Given the description of an element on the screen output the (x, y) to click on. 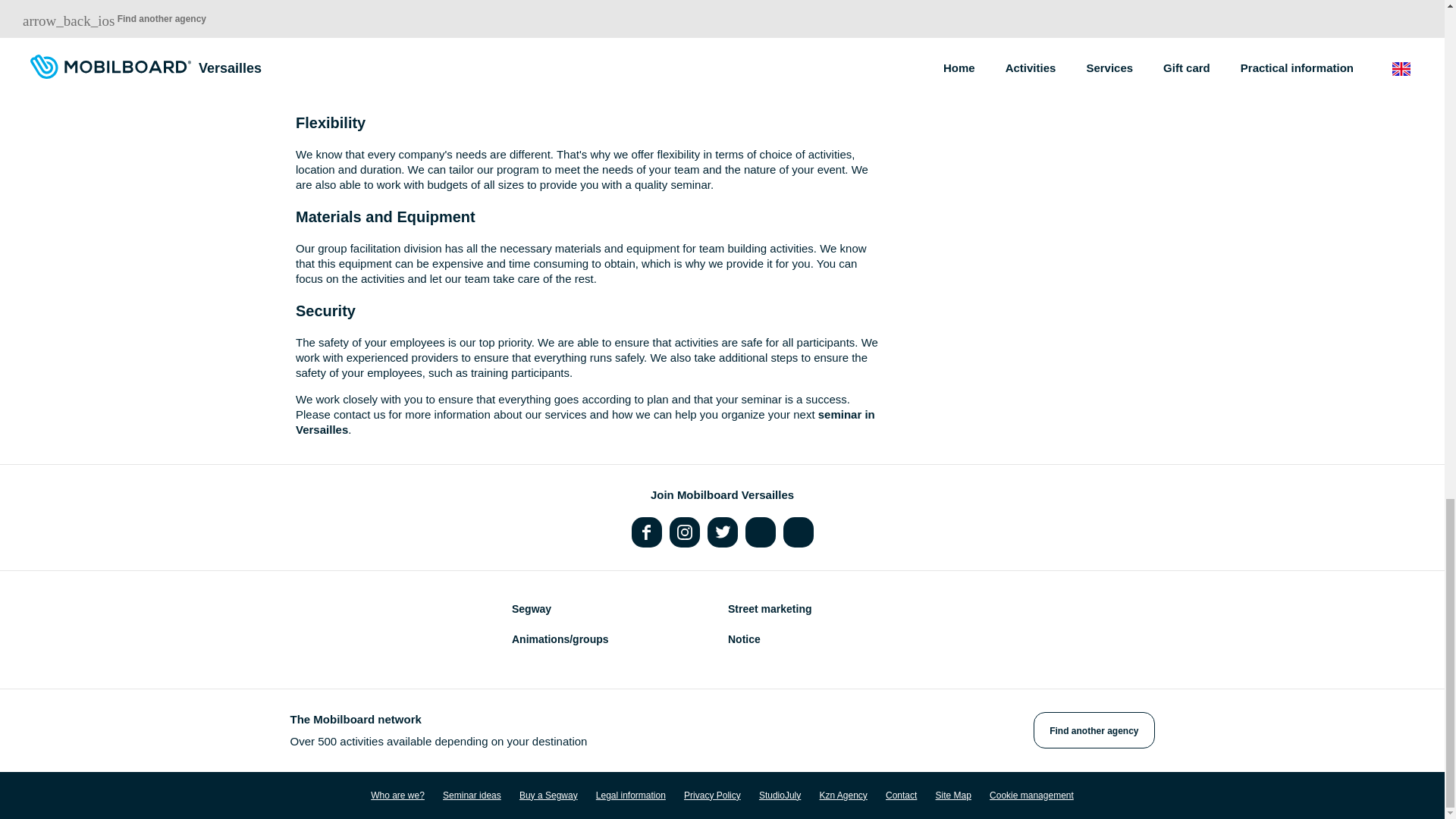
Contact (901, 795)
Buy a Segway (548, 795)
Notice (744, 639)
Find another agency (1093, 729)
Privacy Policy (712, 795)
StudioJuly (779, 795)
Street marketing (769, 608)
Seminar ideas (471, 795)
Who are we? (398, 795)
Kzn Agency (842, 795)
Legal information (630, 795)
Segway (531, 608)
